Given the description of an element on the screen output the (x, y) to click on. 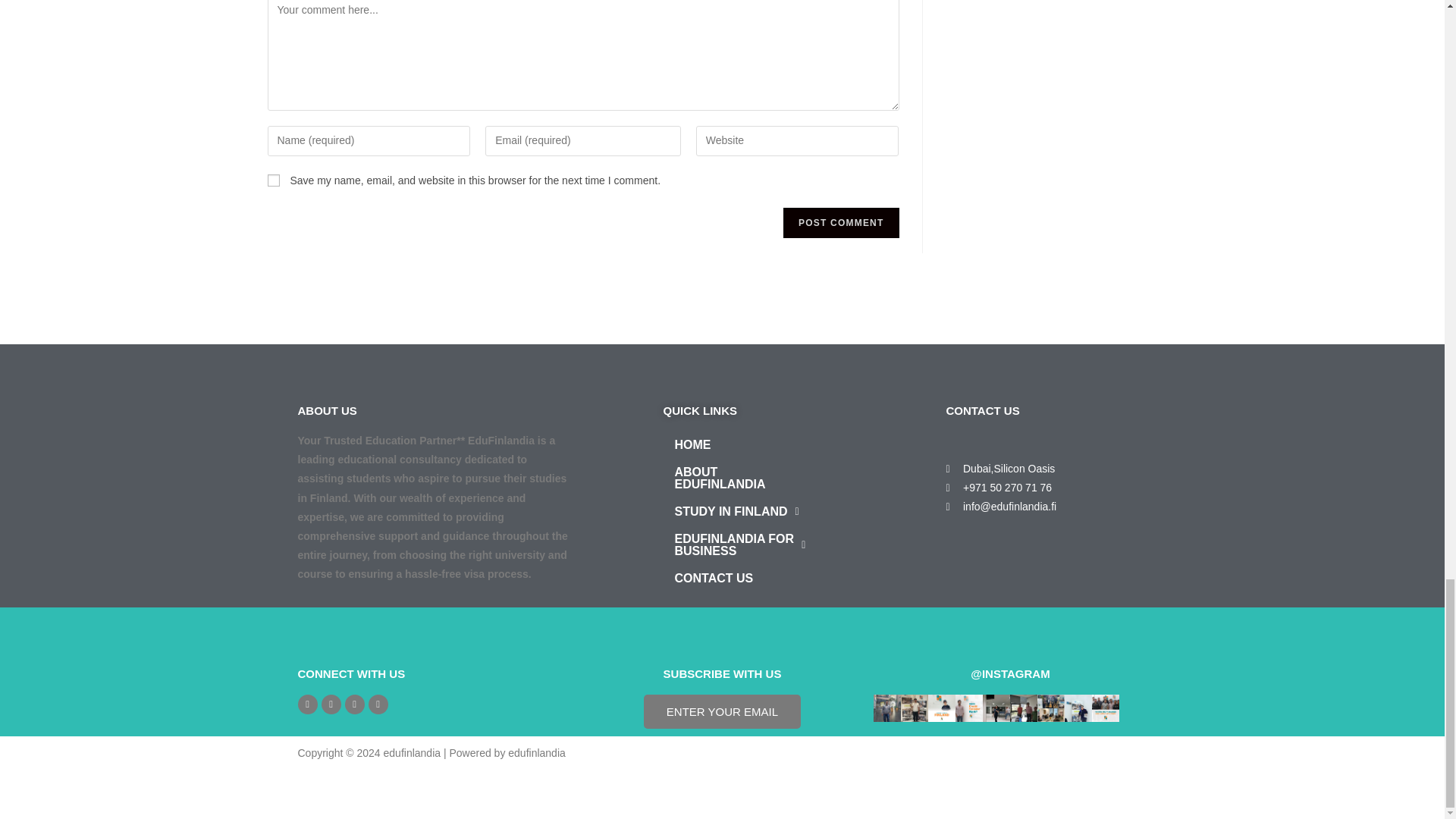
Post Comment (840, 223)
yes (272, 180)
Post Comment (840, 223)
